Given the description of an element on the screen output the (x, y) to click on. 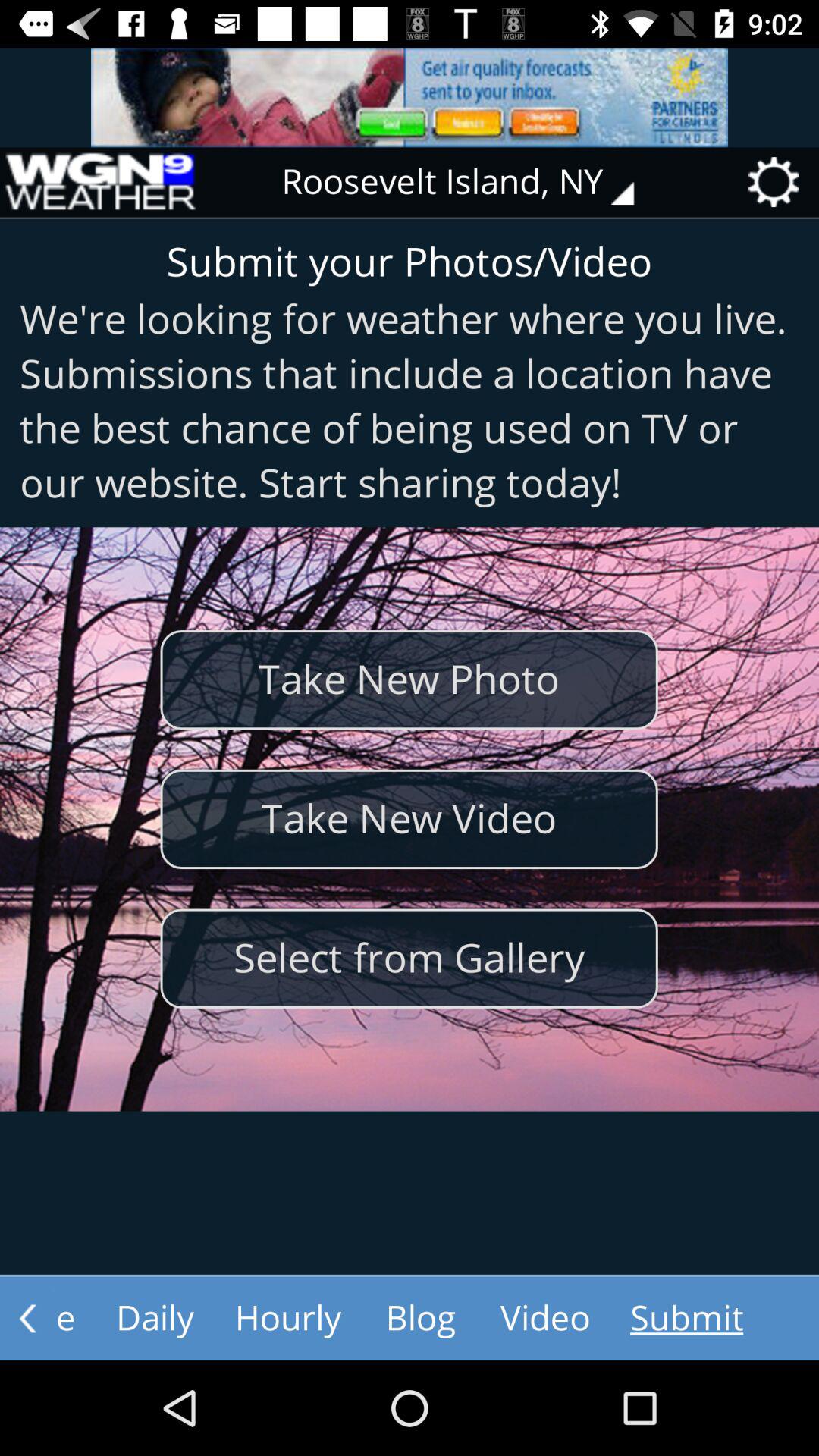
tap select from gallery item (409, 958)
